Given the description of an element on the screen output the (x, y) to click on. 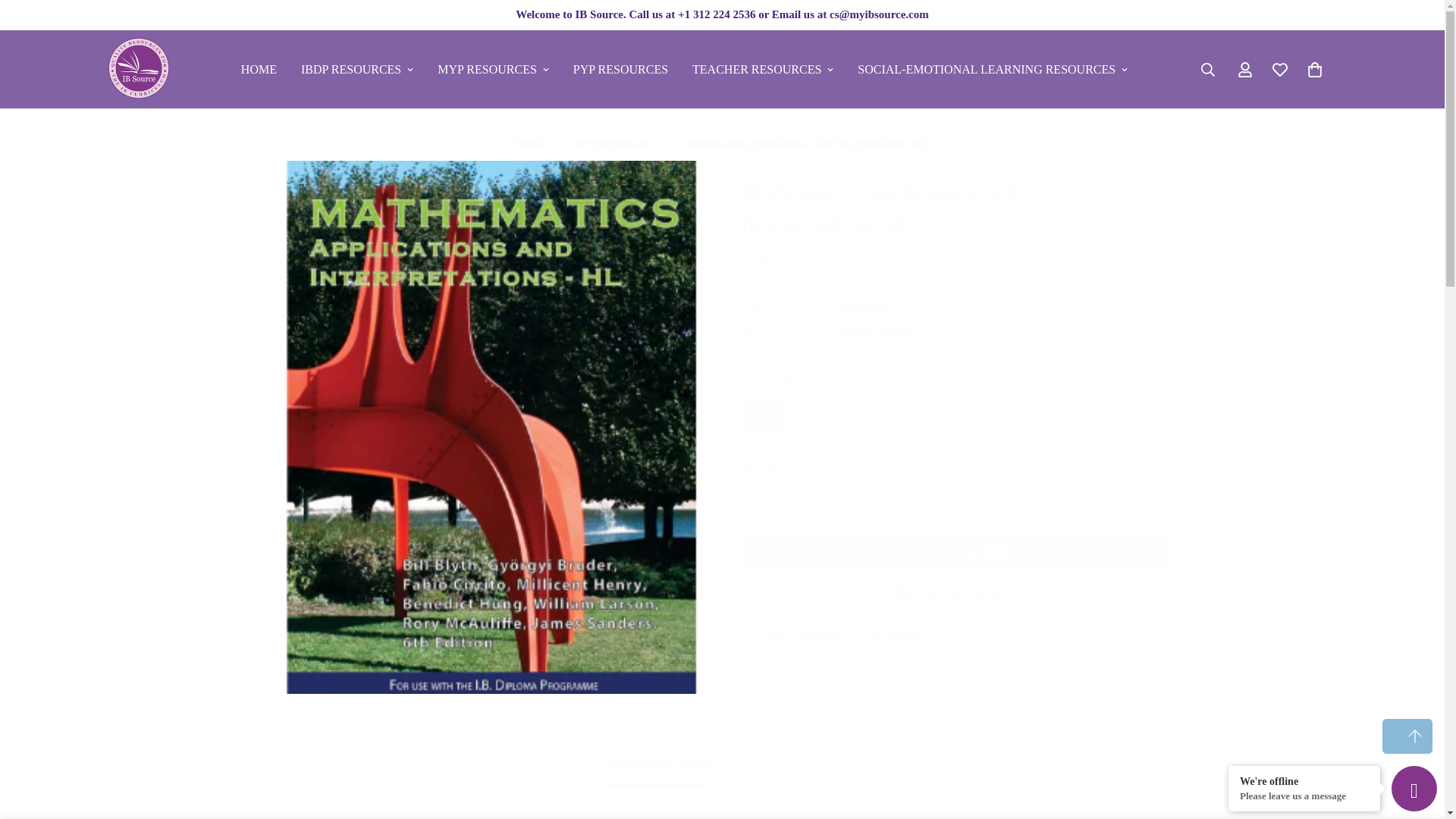
1 (789, 503)
Back to the home page (530, 143)
Please leave us a message (1304, 796)
We're offline (1304, 780)
IB Source Education (137, 69)
IBID Press (863, 308)
